Given the description of an element on the screen output the (x, y) to click on. 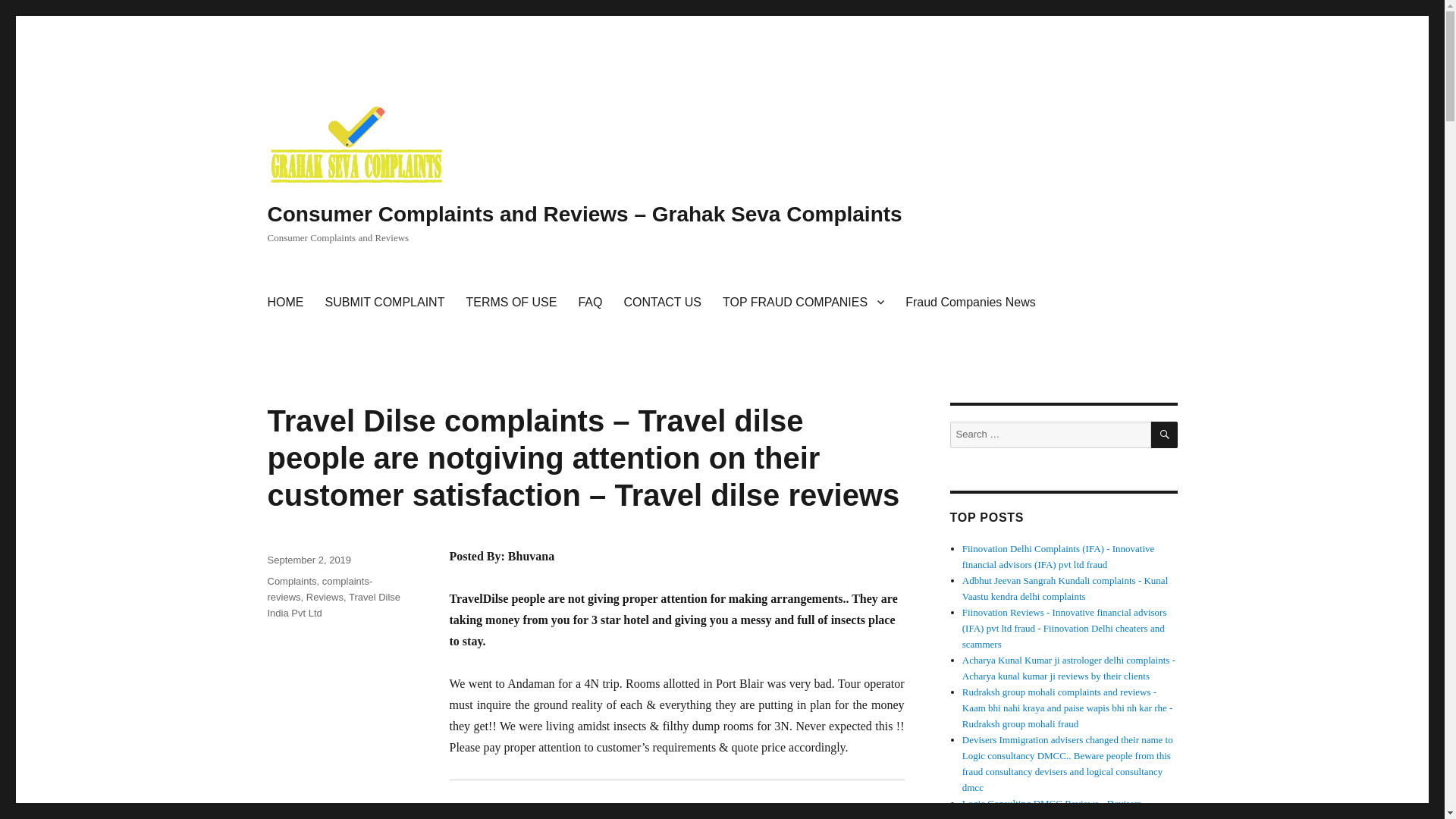
HOME (285, 301)
Complaints (290, 581)
Travel Dilse India Pvt Ltd (333, 605)
September 2, 2019 (308, 559)
Reviews (324, 596)
CONTACT US (661, 301)
FAQ (589, 301)
TOP FRAUD COMPANIES (803, 301)
Fraud Companies News (970, 301)
complaints-reviews (319, 588)
SUBMIT COMPLAINT (384, 301)
TERMS OF USE (510, 301)
